Given the description of an element on the screen output the (x, y) to click on. 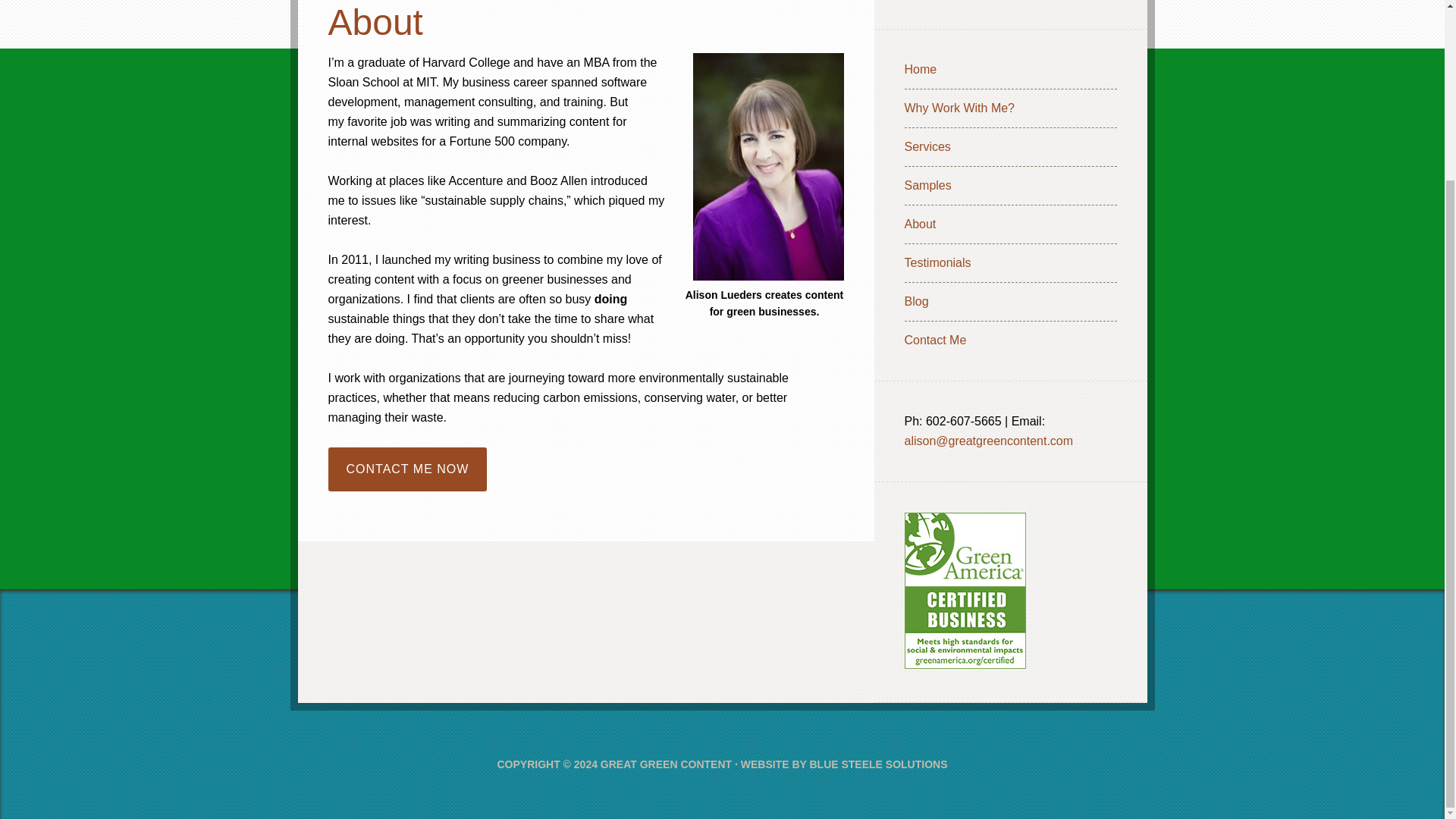
Contact Me (406, 468)
CONTACT ME NOW (406, 468)
Home (920, 69)
Samples (927, 185)
About (920, 223)
BLUE STEELE SOLUTIONS (878, 764)
Why Work With Me? (959, 107)
Blog (916, 300)
Services (927, 146)
Contact Me (935, 339)
